Given the description of an element on the screen output the (x, y) to click on. 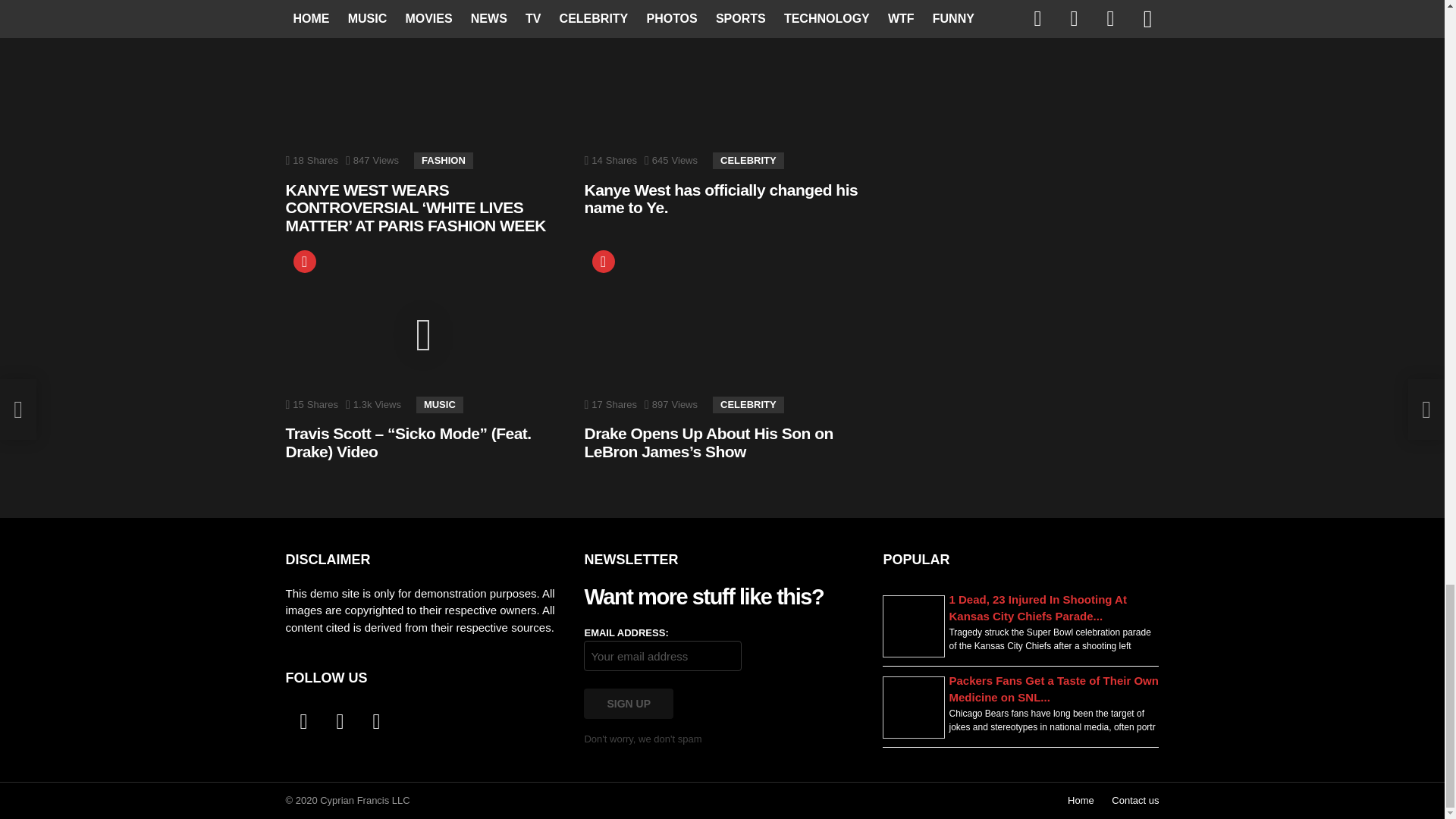
Trending (602, 16)
Sign up (627, 703)
Trending (303, 16)
